Given the description of an element on the screen output the (x, y) to click on. 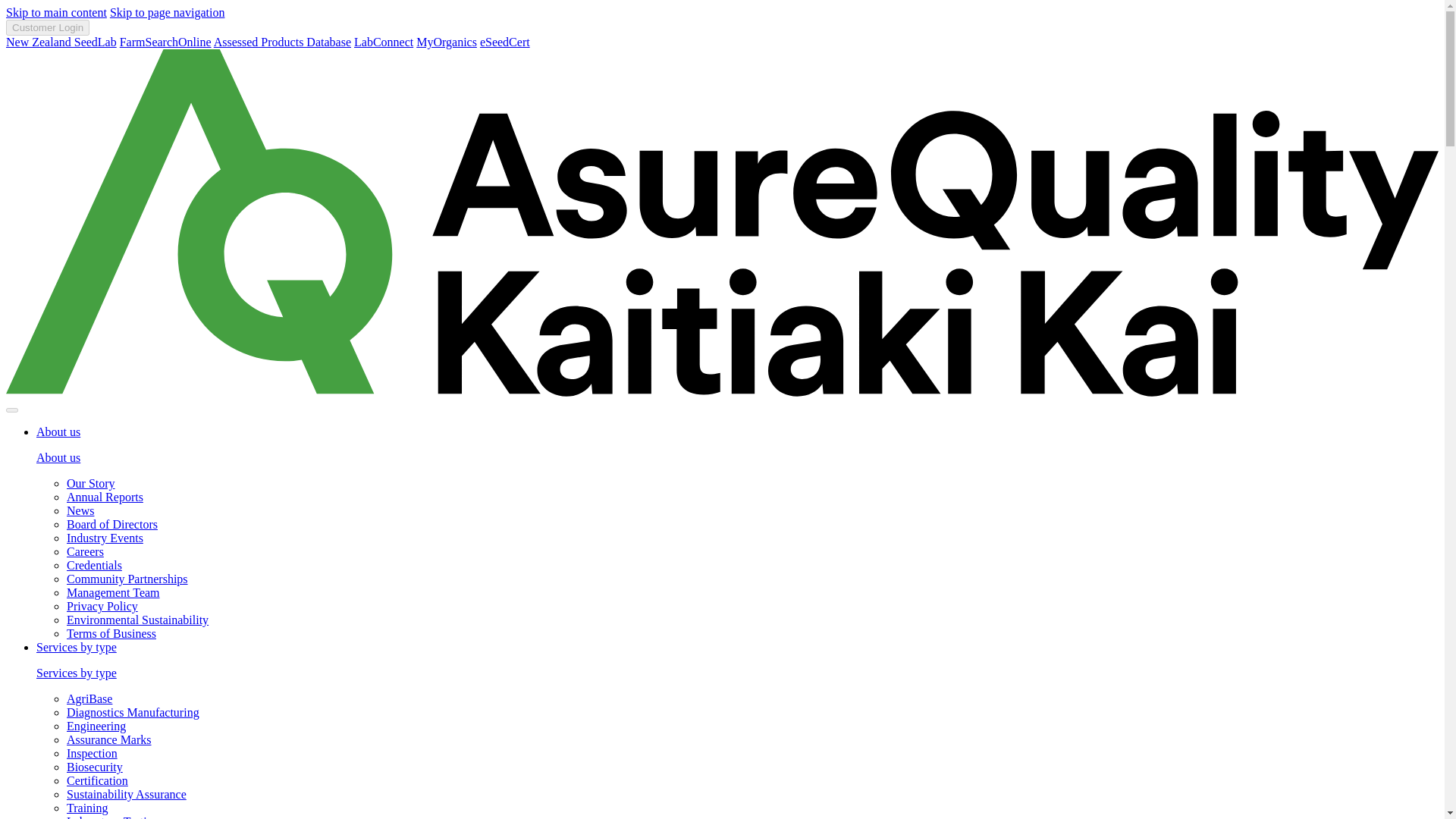
Inspection (91, 753)
Privacy Policy (102, 605)
Laboratory Testing (112, 816)
MyOrganics (446, 42)
Annual Reports (104, 496)
Open mobile menu (11, 409)
Engineering (95, 725)
Sustainability Assurance (126, 793)
Board of Directors (111, 523)
Community Partnerships (126, 578)
Careers (84, 551)
Login to LabConnect (383, 42)
Environmental Sustainability (137, 619)
Assessed Products Database (282, 42)
Training (86, 807)
